Given the description of an element on the screen output the (x, y) to click on. 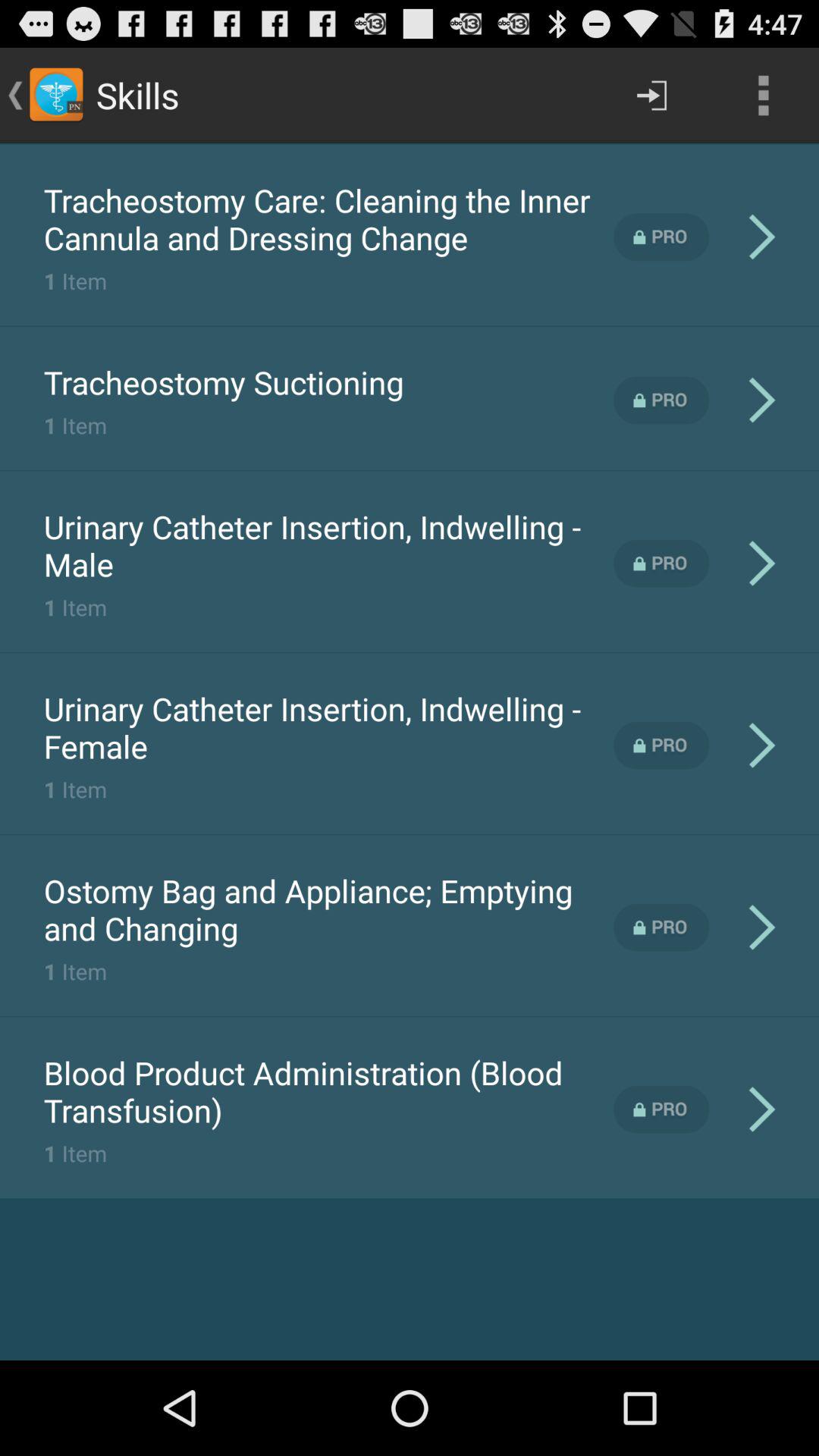
jump to the tracheostomy suctioning app (223, 381)
